Given the description of an element on the screen output the (x, y) to click on. 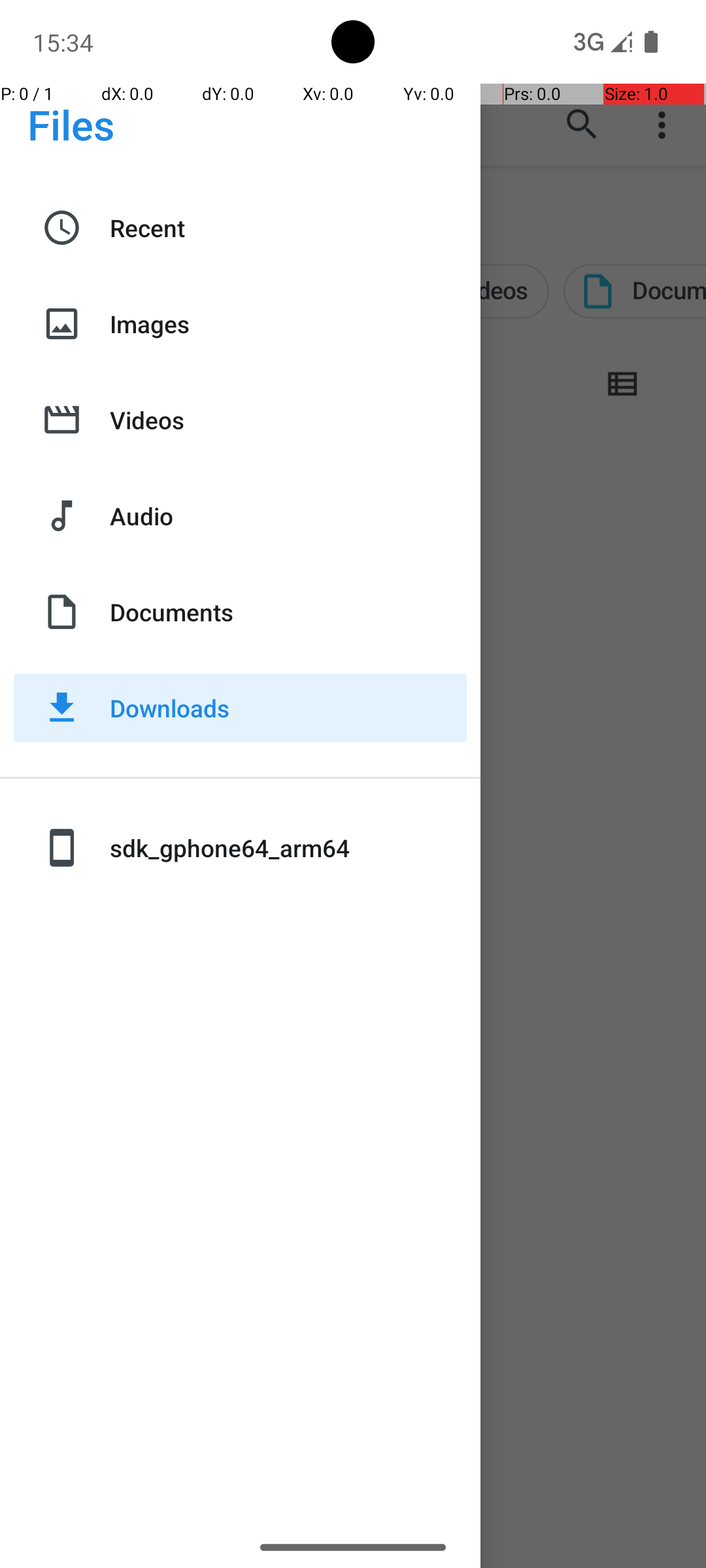
Files Element type: android.widget.TextView (70, 124)
Images Element type: android.widget.TextView (287, 323)
Videos Element type: android.widget.TextView (287, 419)
Audio Element type: android.widget.TextView (287, 515)
Documents Element type: android.widget.TextView (287, 611)
Downloads Element type: android.widget.TextView (287, 707)
sdk_gphone64_arm64 Element type: android.widget.TextView (287, 847)
